Given the description of an element on the screen output the (x, y) to click on. 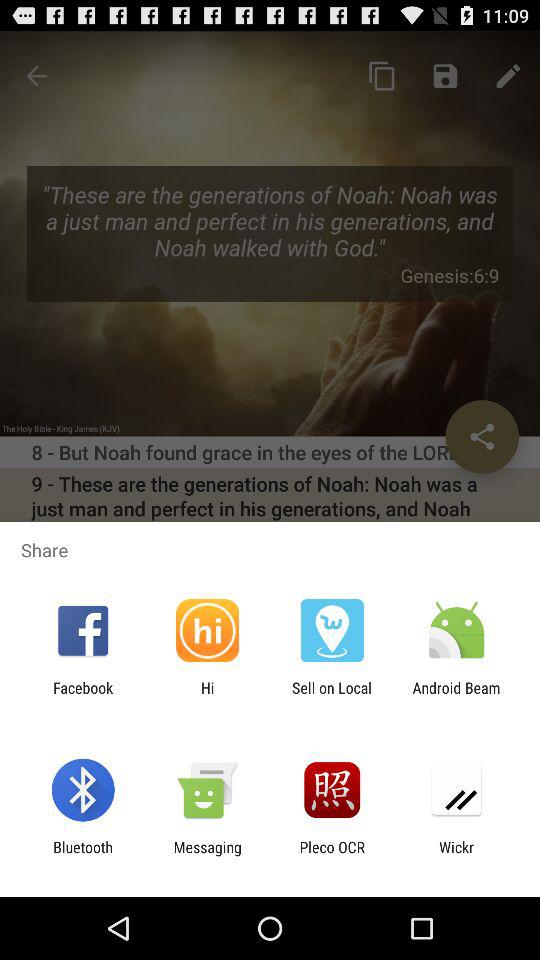
select the app next to the bluetooth item (207, 856)
